Given the description of an element on the screen output the (x, y) to click on. 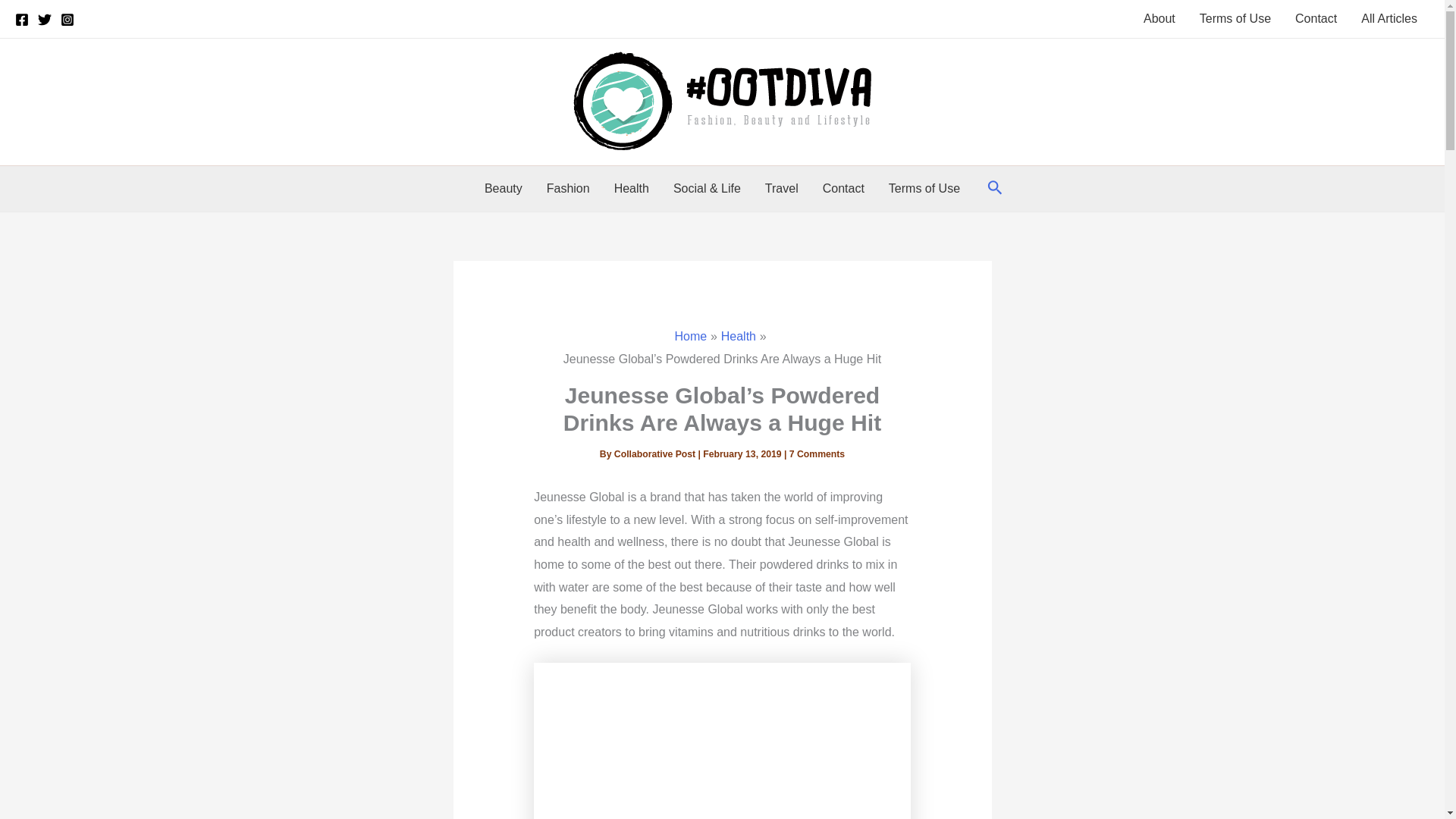
Terms of Use (1235, 18)
All Articles (1389, 18)
Fashion (568, 188)
About (1159, 18)
Contact (1315, 18)
Contact (843, 188)
Terms of Use (924, 188)
Health (737, 336)
Home (691, 336)
Collaborative Post (656, 453)
